Given the description of an element on the screen output the (x, y) to click on. 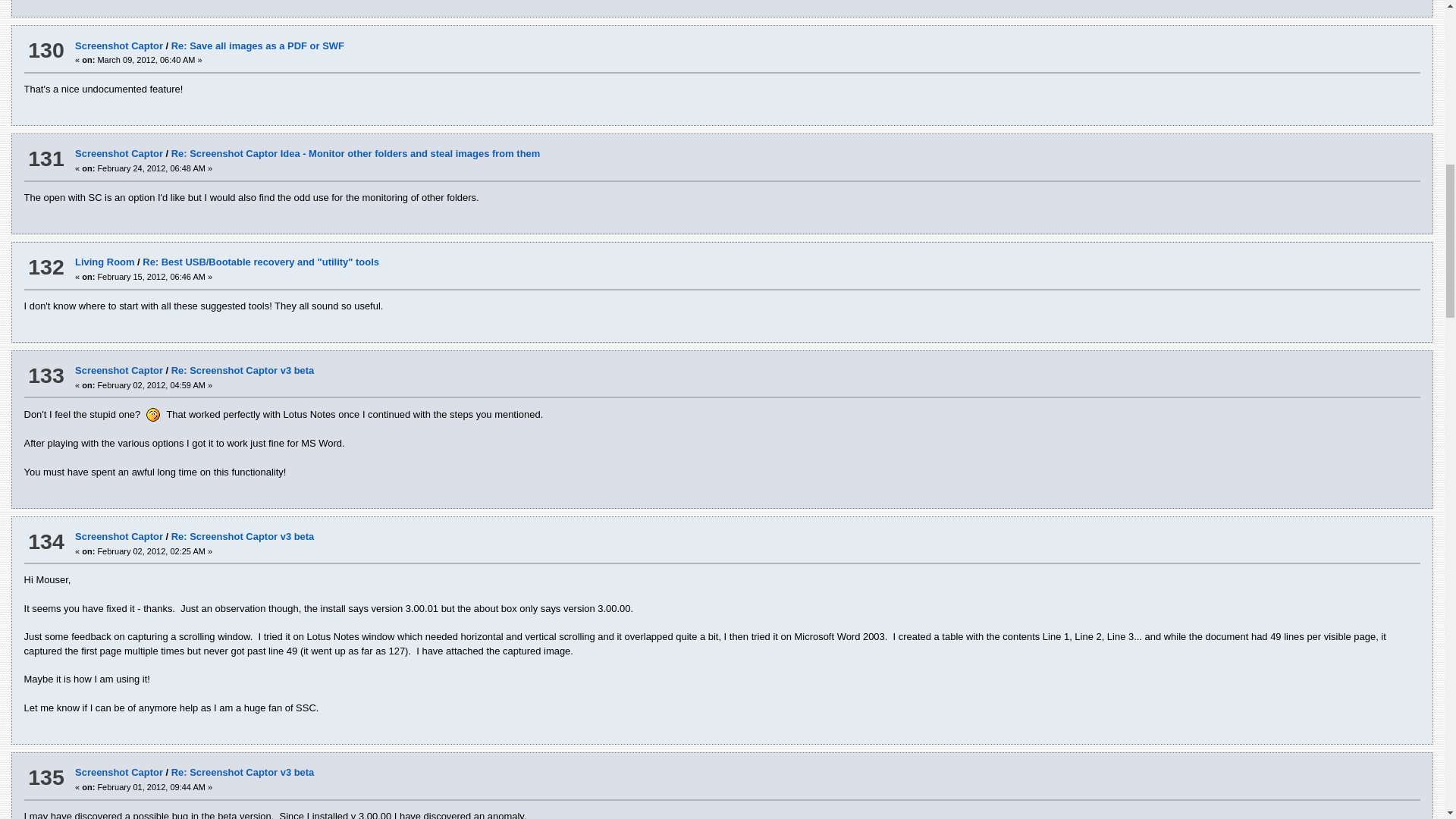
embarassed (152, 414)
